Given the description of an element on the screen output the (x, y) to click on. 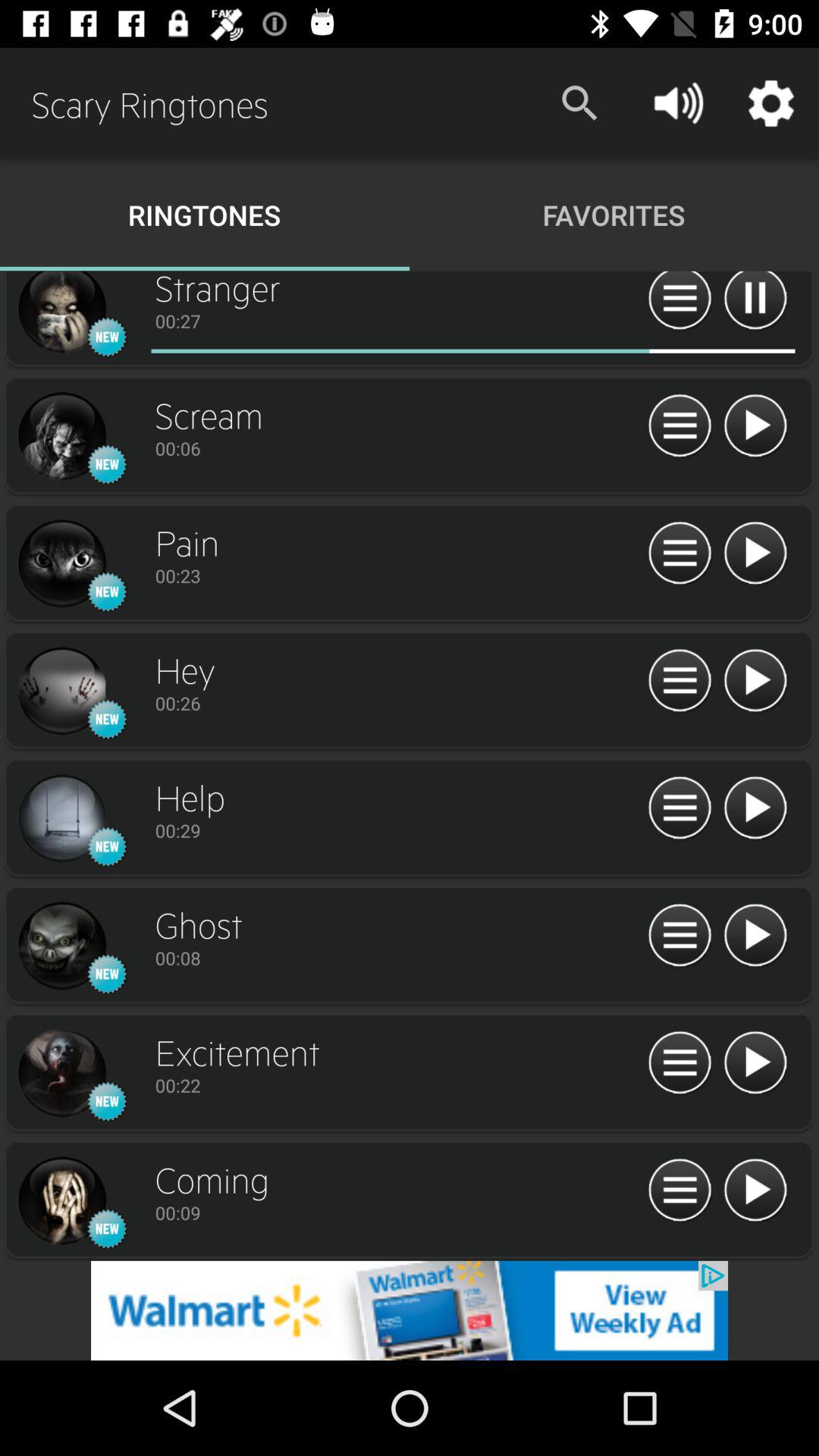
more options (679, 302)
